Given the description of an element on the screen output the (x, y) to click on. 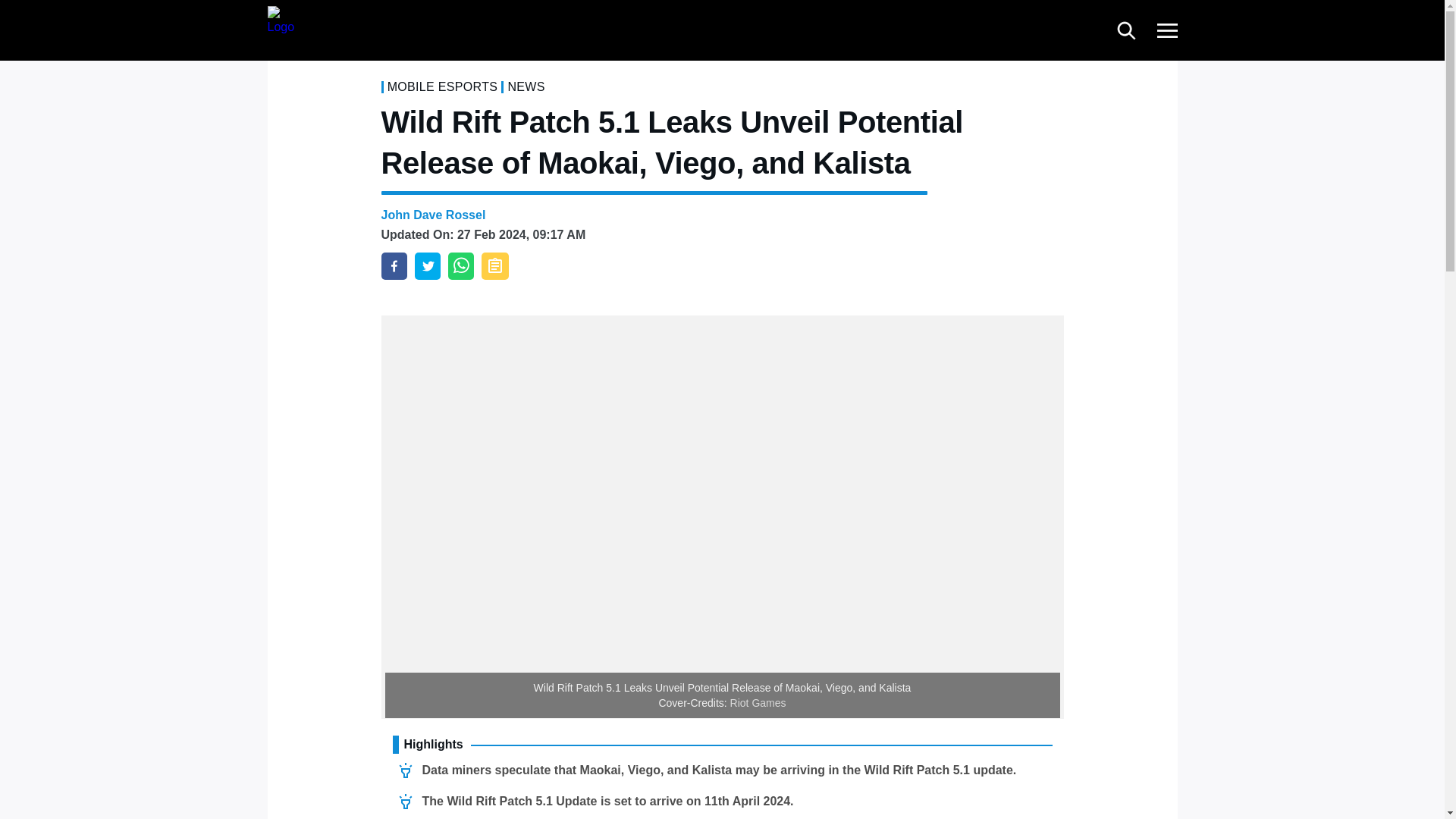
Riot Games (758, 702)
John Dave Rossel (432, 214)
MOBILE ESPORTS (442, 87)
NEWS (525, 87)
